Given the description of an element on the screen output the (x, y) to click on. 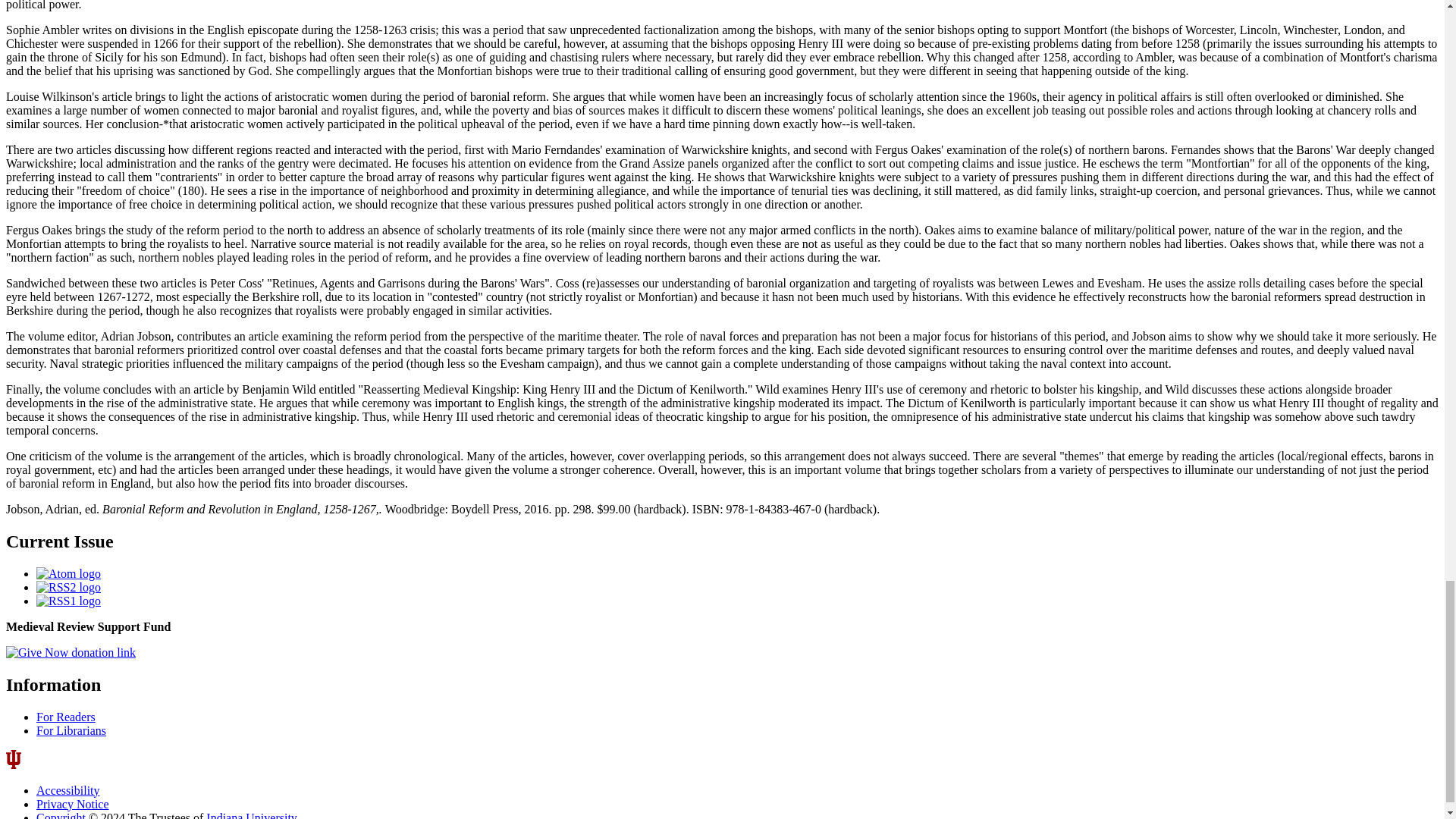
Privacy Notice (72, 803)
For Librarians (71, 730)
Accessibility (68, 789)
For Readers (66, 716)
